Given the description of an element on the screen output the (x, y) to click on. 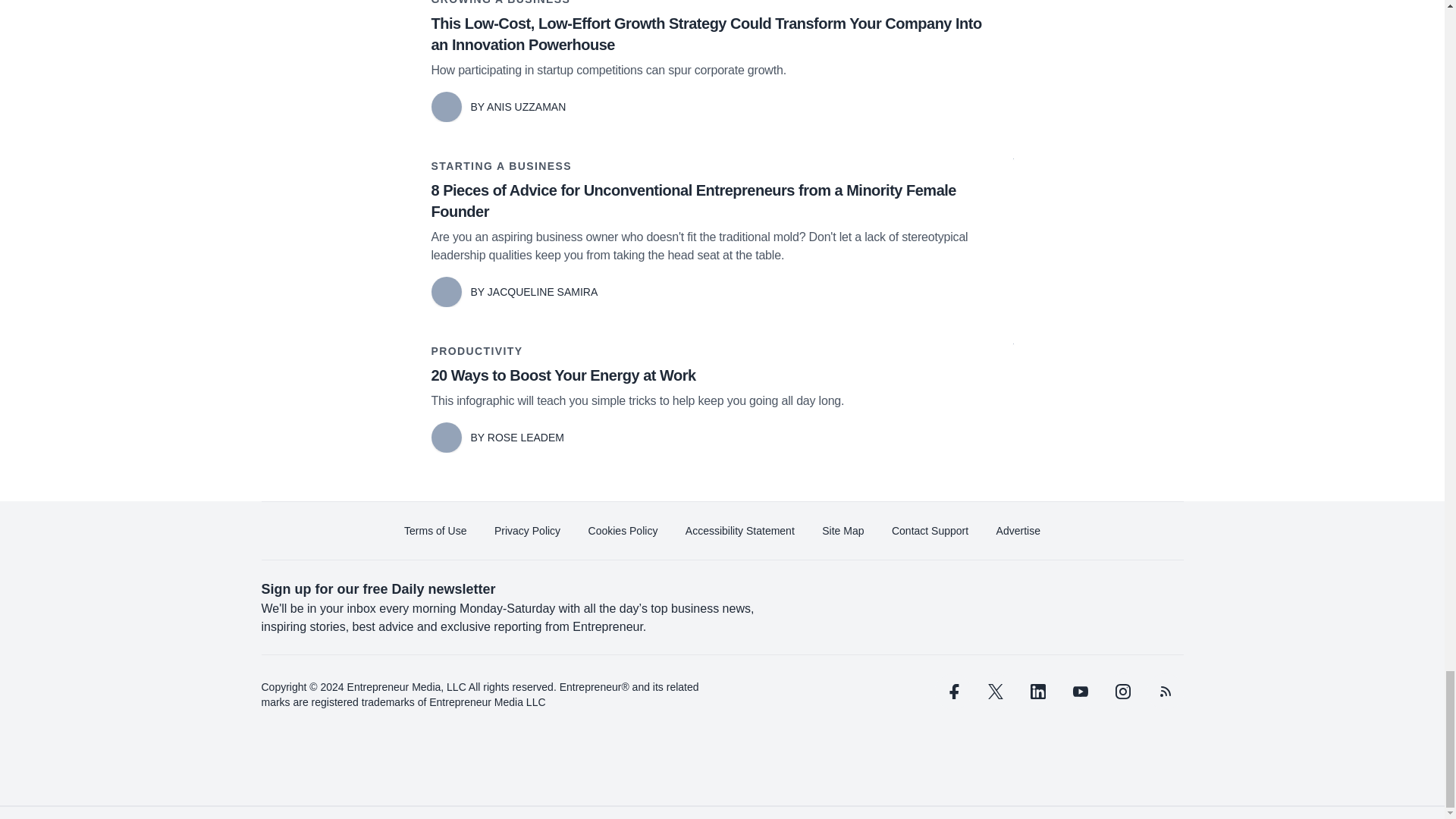
linkedin (1037, 691)
twitter (994, 691)
instagram (1121, 691)
youtube (1079, 691)
rss (1164, 691)
facebook (952, 691)
